Given the description of an element on the screen output the (x, y) to click on. 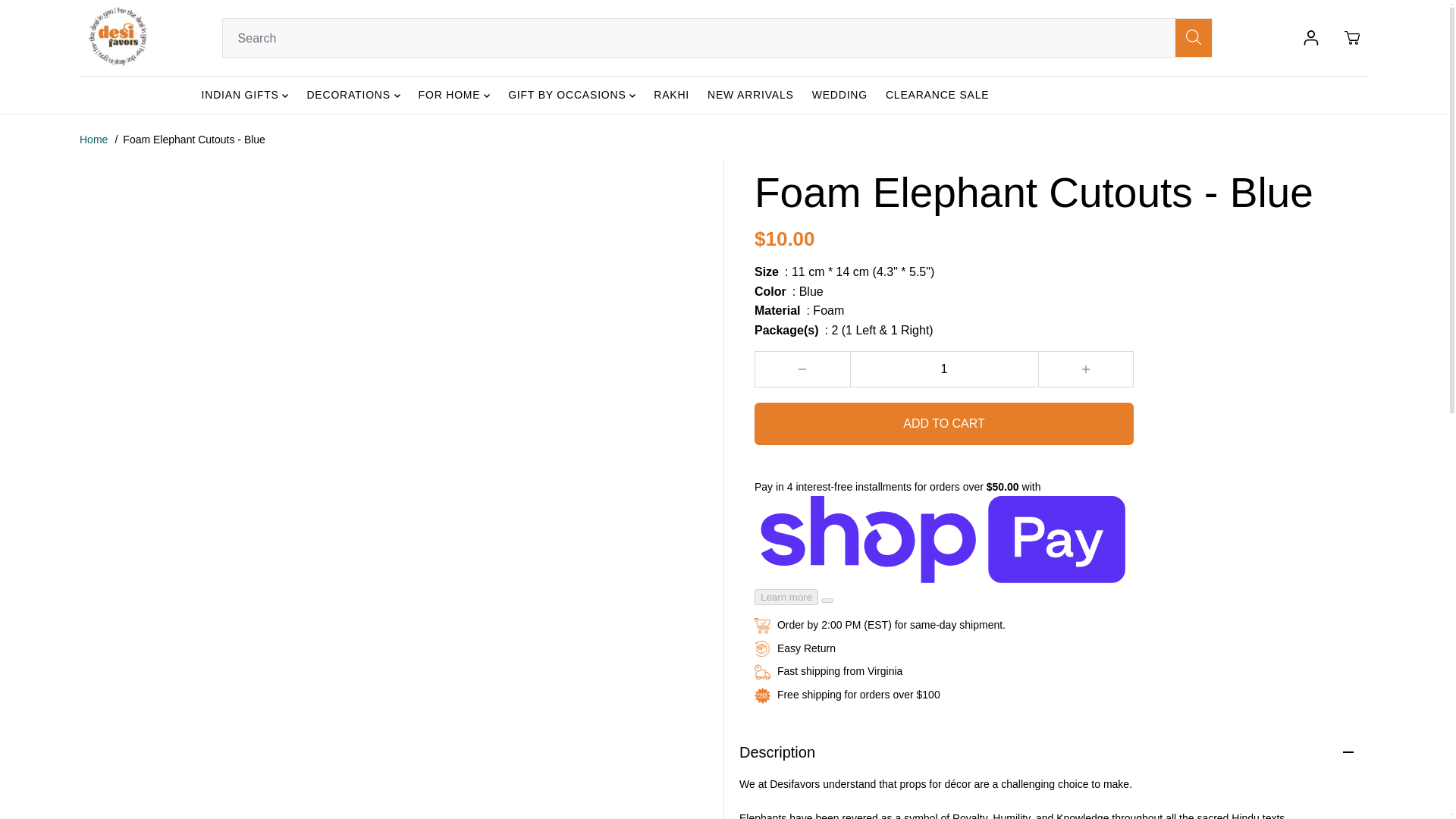
SKIP TO CONTENT (60, 18)
Home (93, 139)
1 (943, 369)
Log in (1310, 37)
Cart (1351, 37)
